Given the description of an element on the screen output the (x, y) to click on. 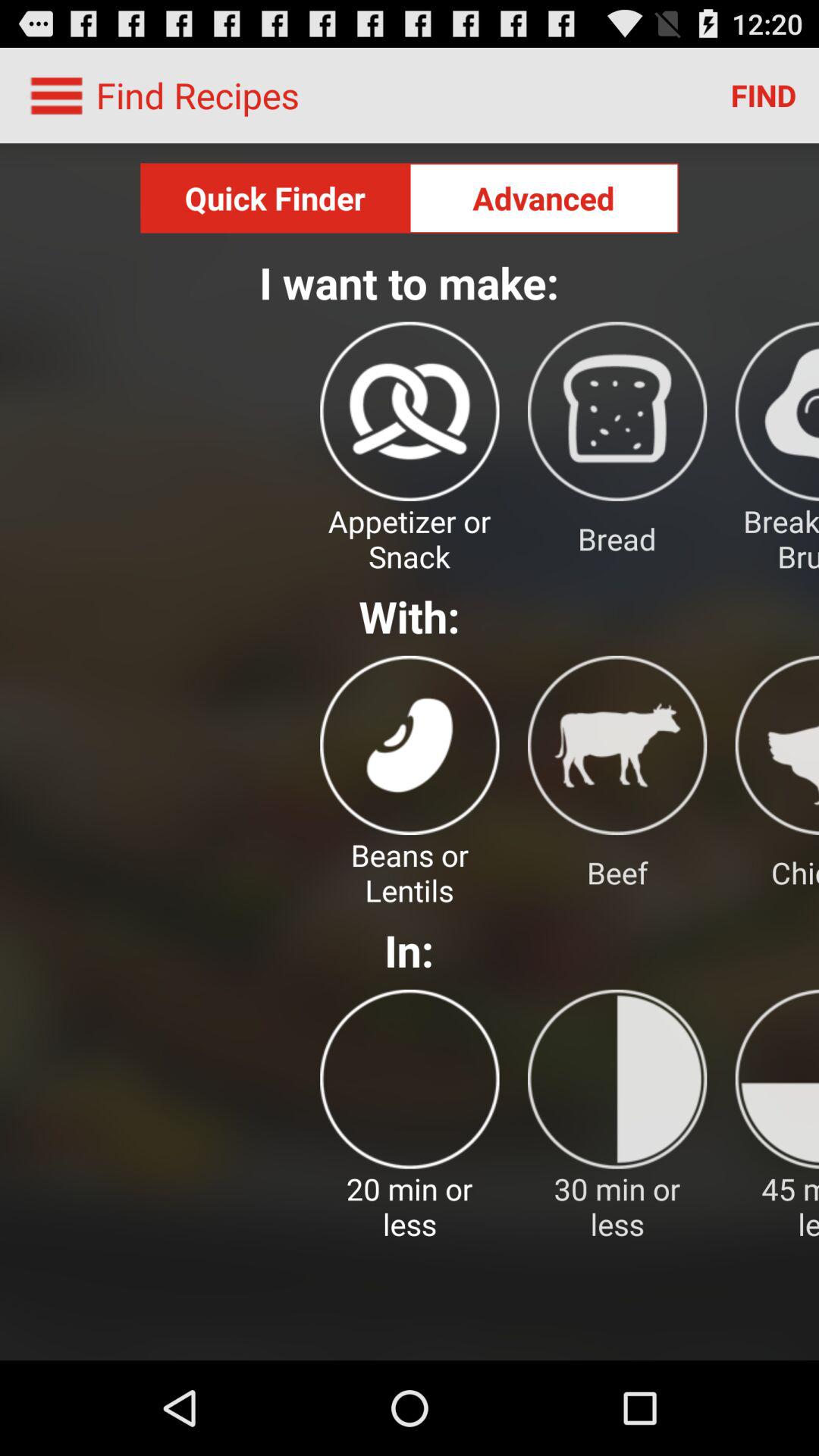
tap the button to the left of advanced icon (274, 198)
